Given the description of an element on the screen output the (x, y) to click on. 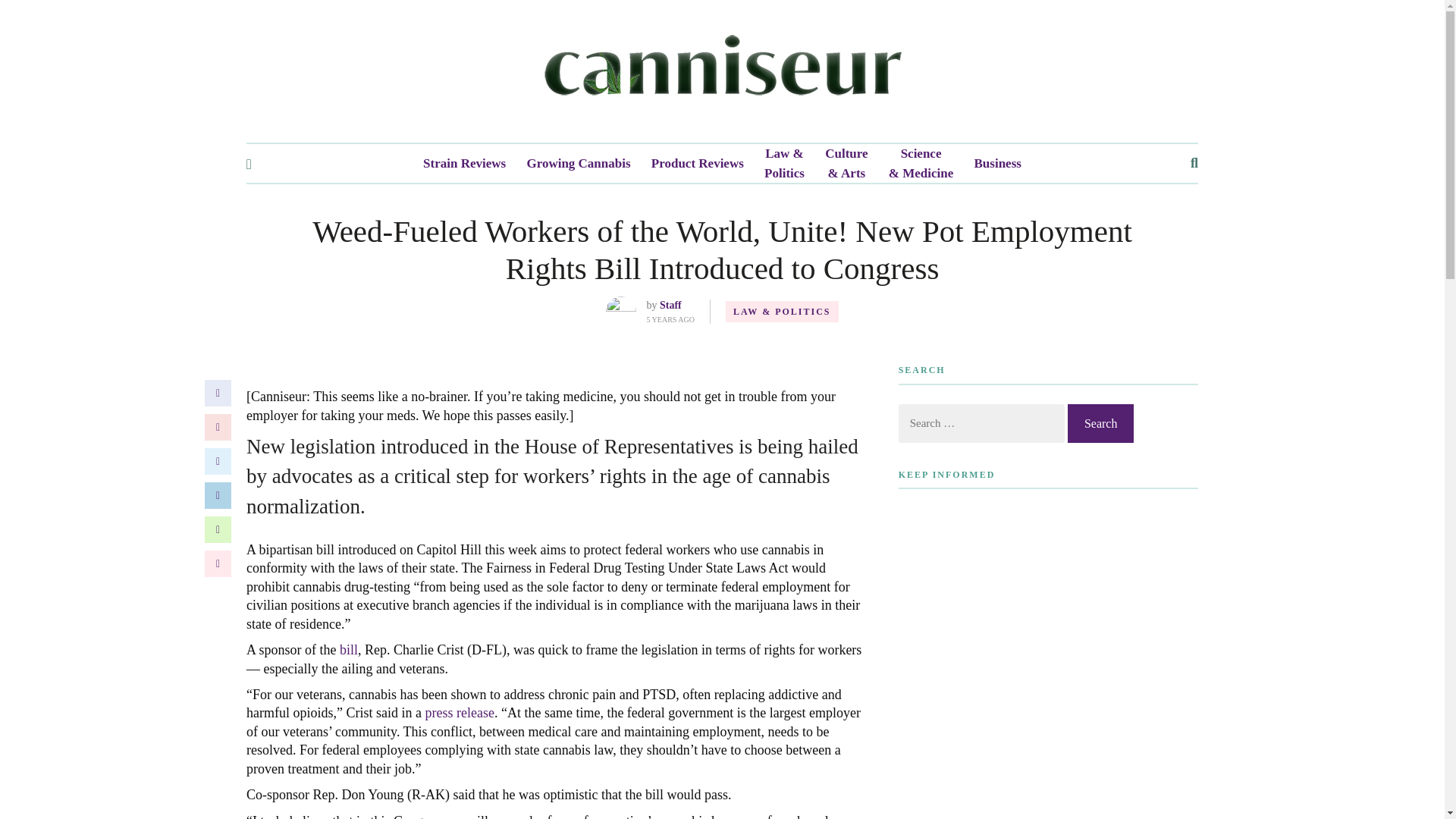
Product Reviews (697, 163)
Canniseur (721, 71)
Business (998, 163)
Strain Reviews (464, 163)
Growing Cannabis (577, 163)
Search (1100, 423)
Search (1100, 423)
Staff (670, 305)
press release (459, 712)
bill (348, 649)
